Given the description of an element on the screen output the (x, y) to click on. 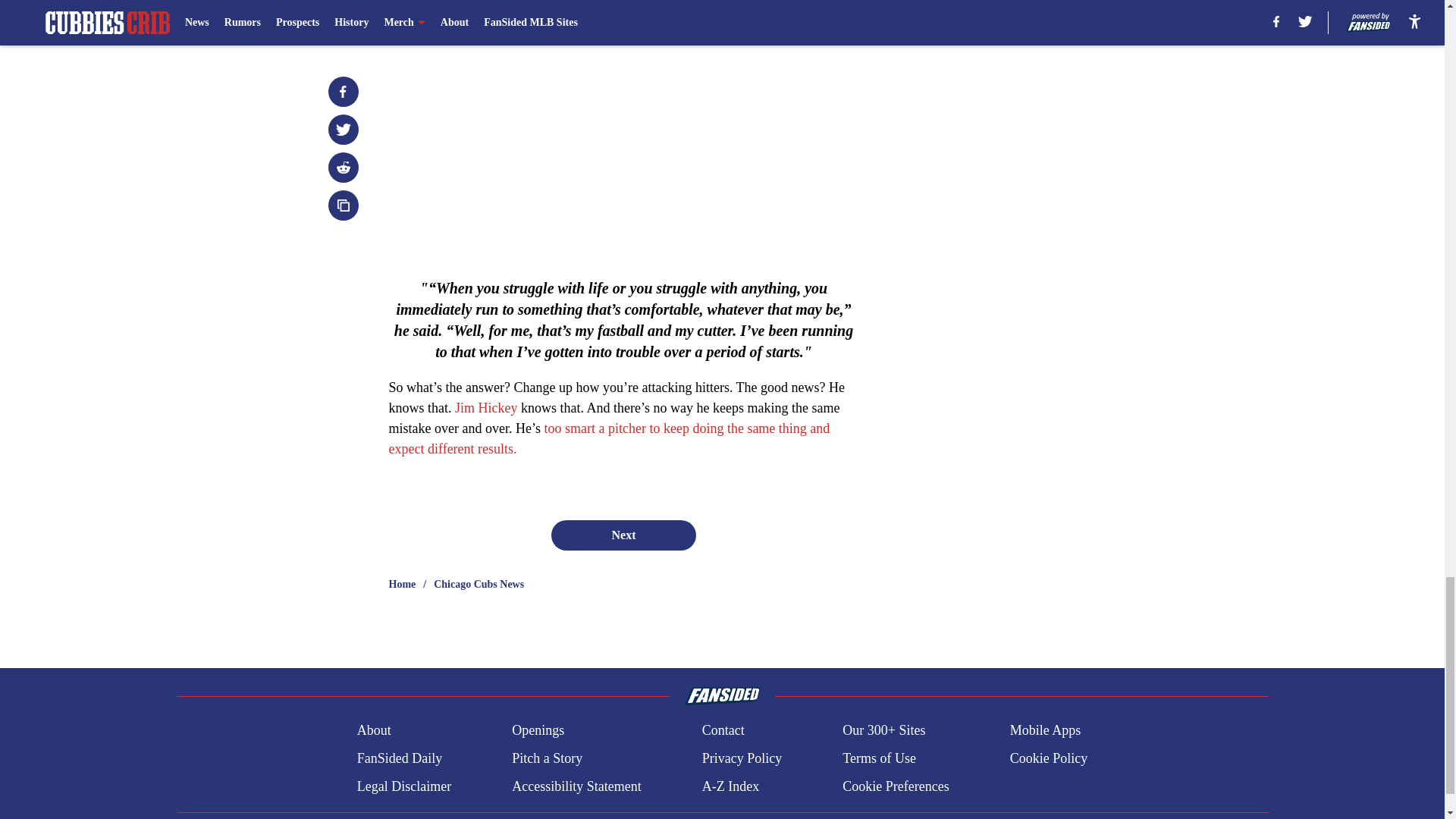
Mobile Apps (1045, 730)
Next (622, 535)
Chicago Cubs News (478, 584)
Jim Hickey (486, 407)
About (373, 730)
Contact (722, 730)
Home (401, 584)
Openings (538, 730)
